Given the description of an element on the screen output the (x, y) to click on. 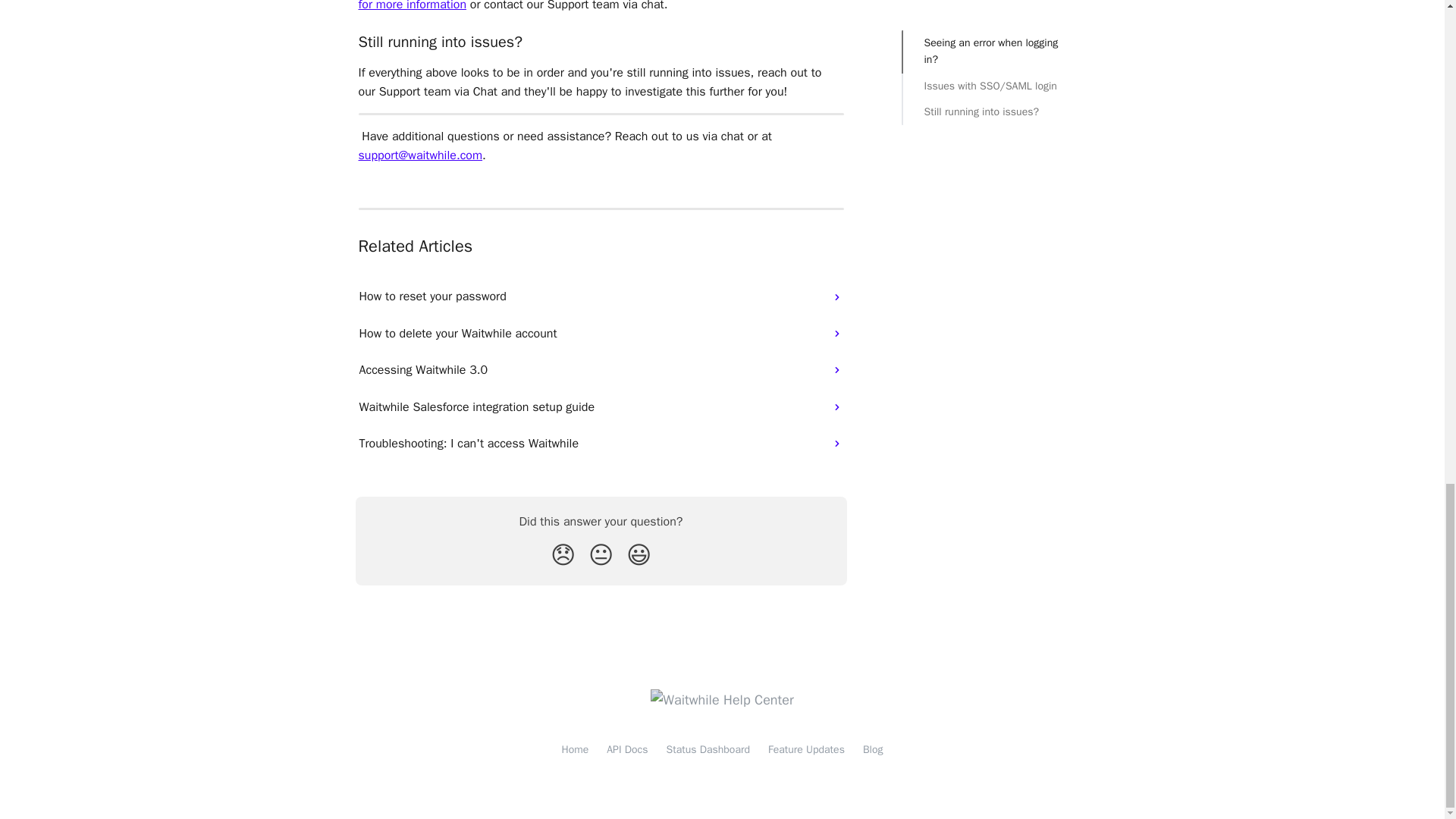
SSO help article for more information (596, 6)
Home (574, 748)
API Docs (627, 748)
Troubleshooting: I can't access Waitwhile (600, 443)
Feature Updates (806, 748)
Waitwhile Salesforce integration setup guide (600, 407)
How to delete your Waitwhile account (600, 333)
How to reset your password (600, 296)
Status Dashboard (707, 748)
Accessing Waitwhile 3.0 (600, 370)
